Given the description of an element on the screen output the (x, y) to click on. 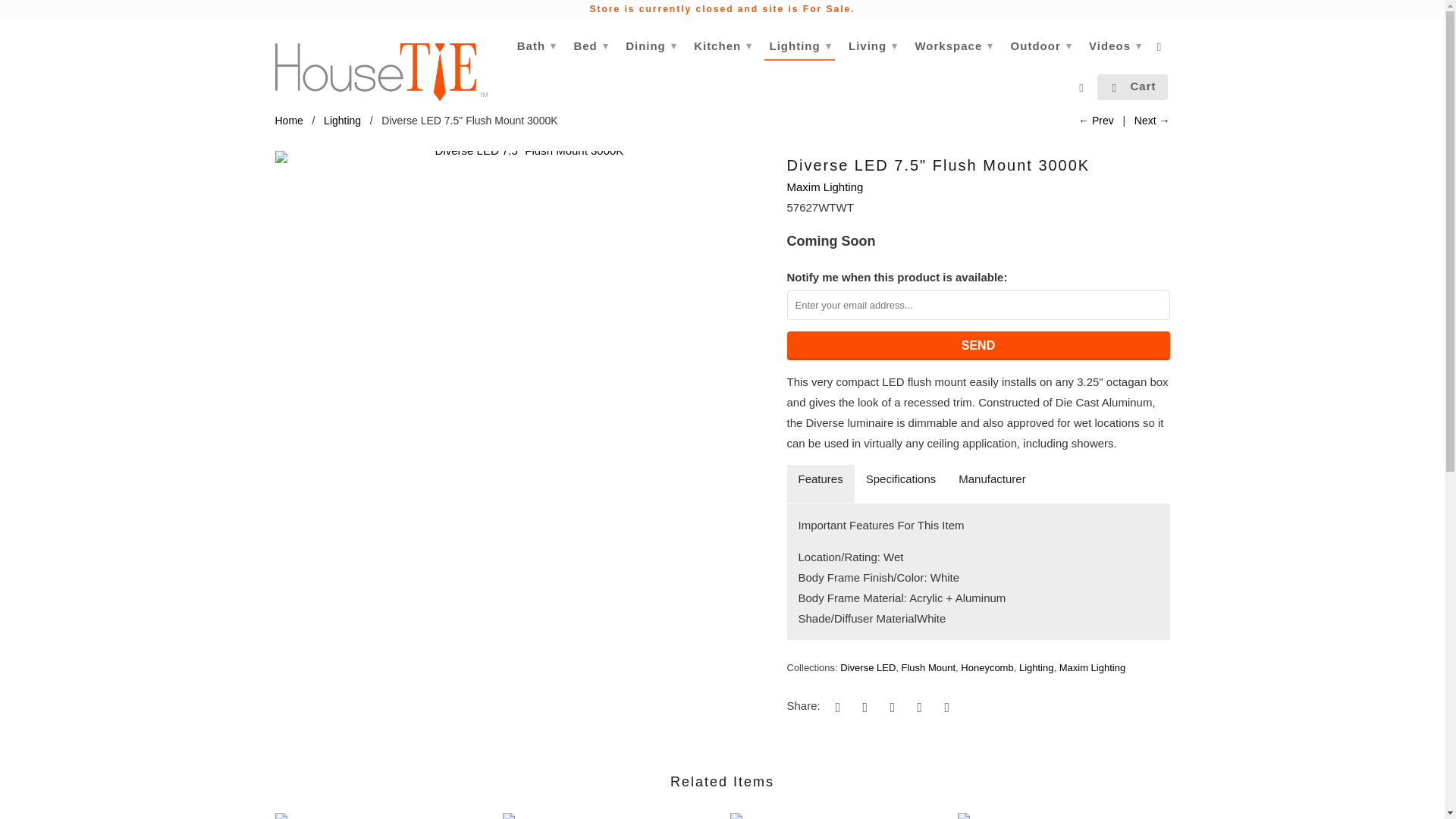
Diverse LED 7.5" Flush Mount 3000K (523, 156)
Flush Mount (928, 667)
Share this on Pinterest (889, 706)
Share this on Twitter (835, 706)
Lighting (342, 120)
Maxim Lighting (825, 186)
Diverse LED (867, 667)
HouseTie (288, 120)
Maxim Lighting (1092, 667)
Honeycomb (986, 667)
